Given the description of an element on the screen output the (x, y) to click on. 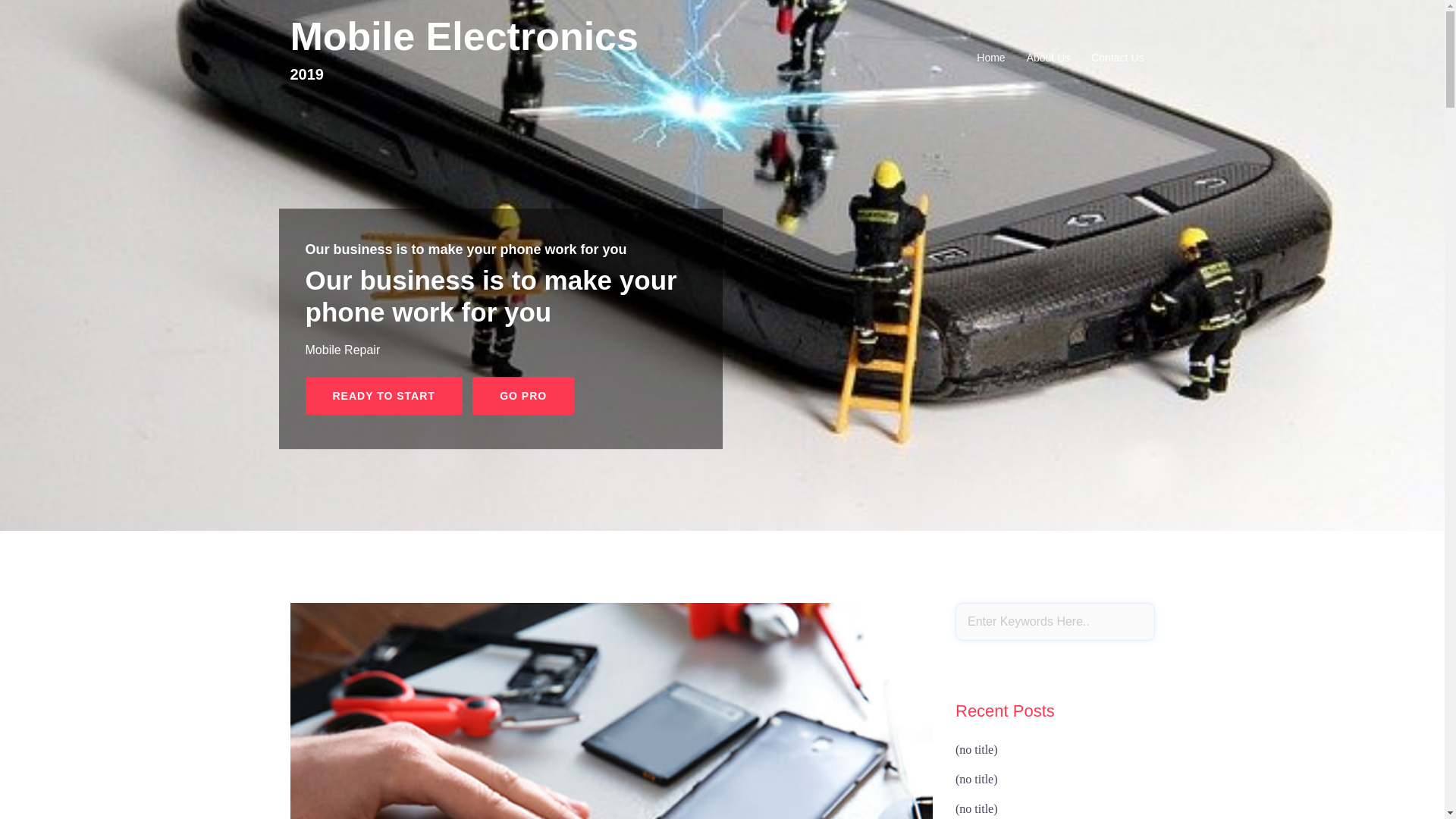
Search Element type: text (50, 18)
Mobile Electronics Element type: text (463, 36)
Contact Us Element type: text (1117, 57)
Home Element type: text (990, 57)
(no title) Element type: text (976, 749)
About Us Element type: text (1048, 57)
GO PRO Element type: text (523, 395)
READY TO START Element type: text (382, 395)
(no title) Element type: text (976, 808)
(no title) Element type: text (976, 778)
